Given the description of an element on the screen output the (x, y) to click on. 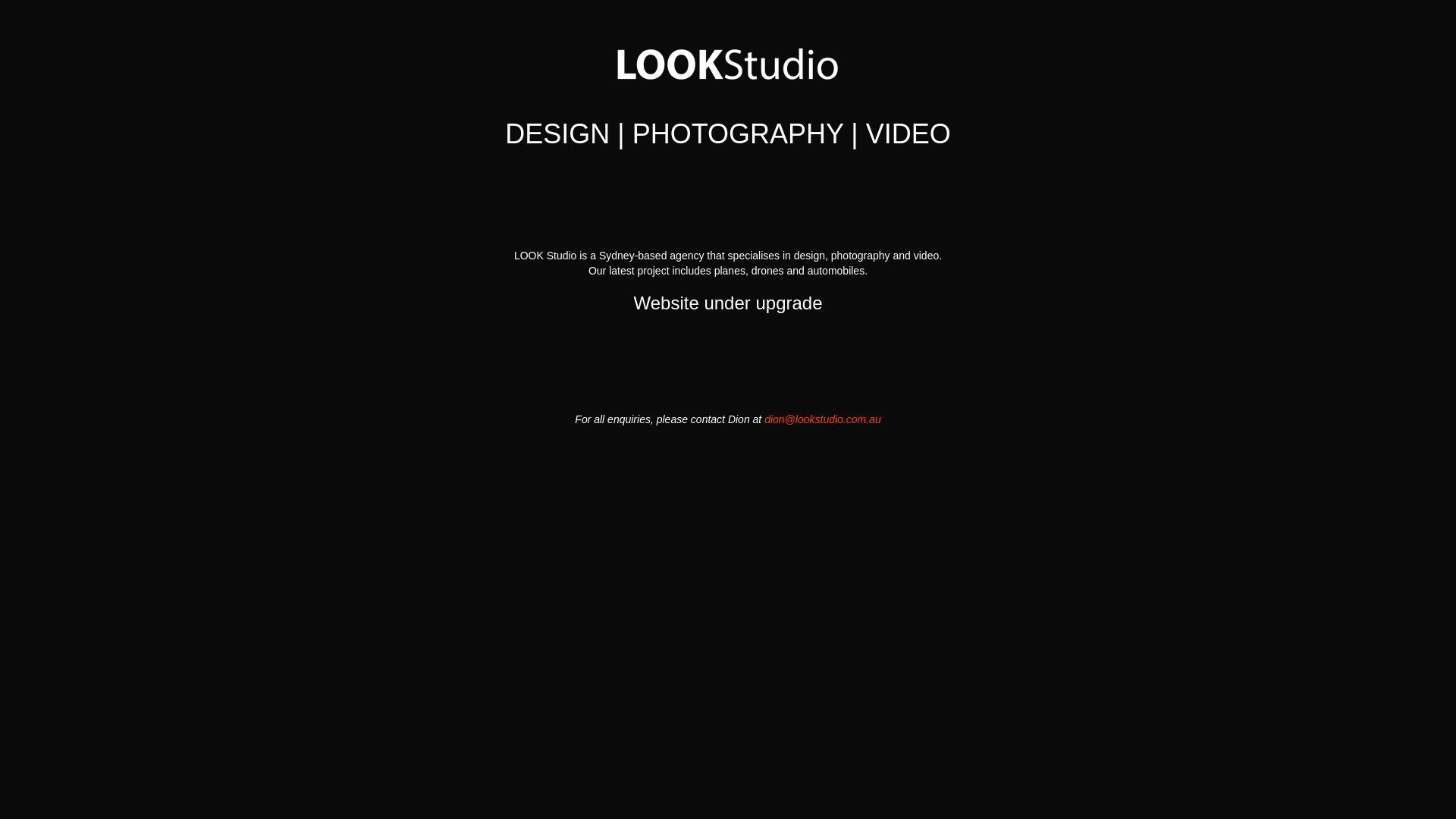
dion@lookstudio.com.au Element type: text (822, 419)
